Given the description of an element on the screen output the (x, y) to click on. 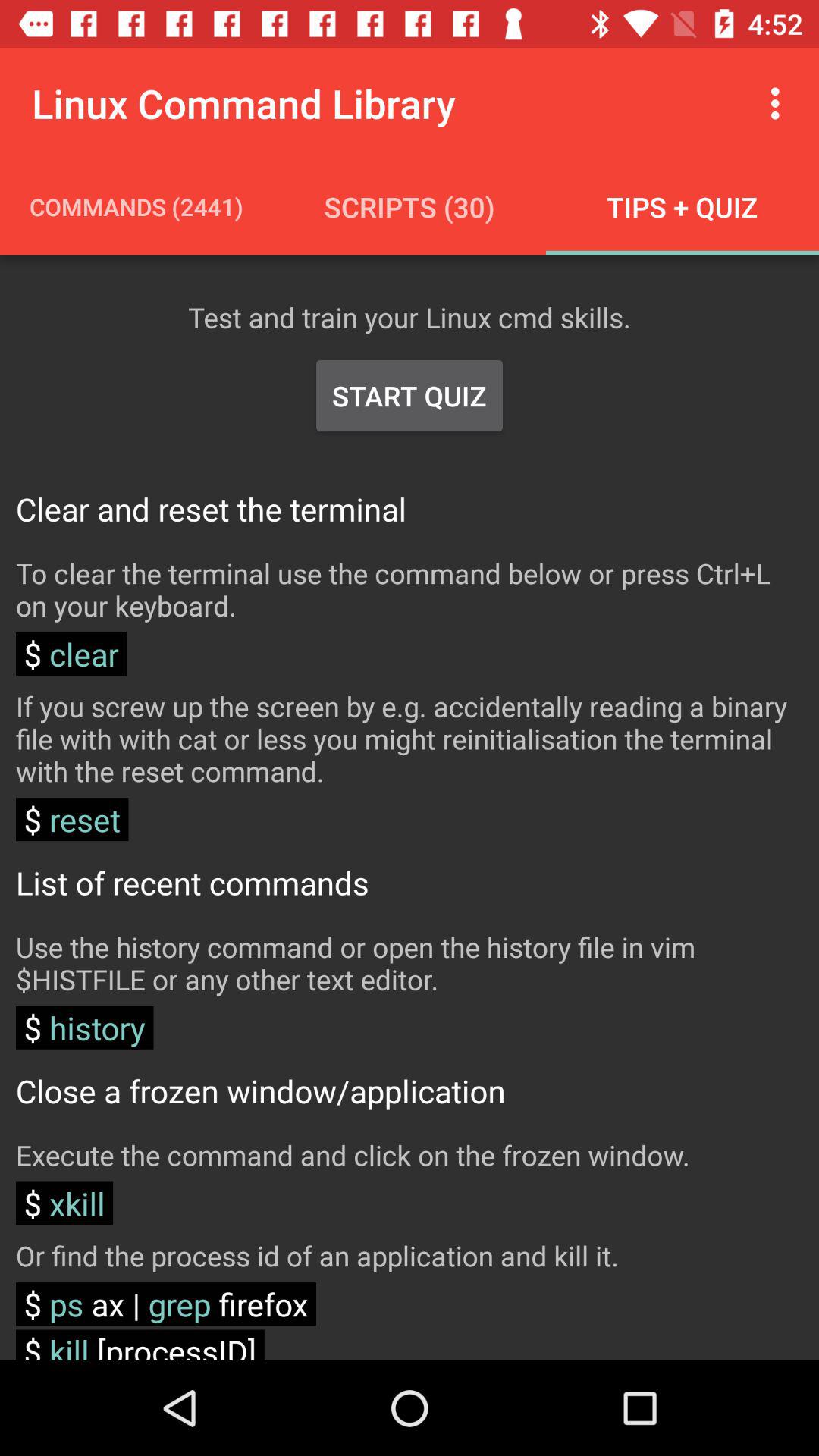
swipe until $ xkill  icon (64, 1203)
